Given the description of an element on the screen output the (x, y) to click on. 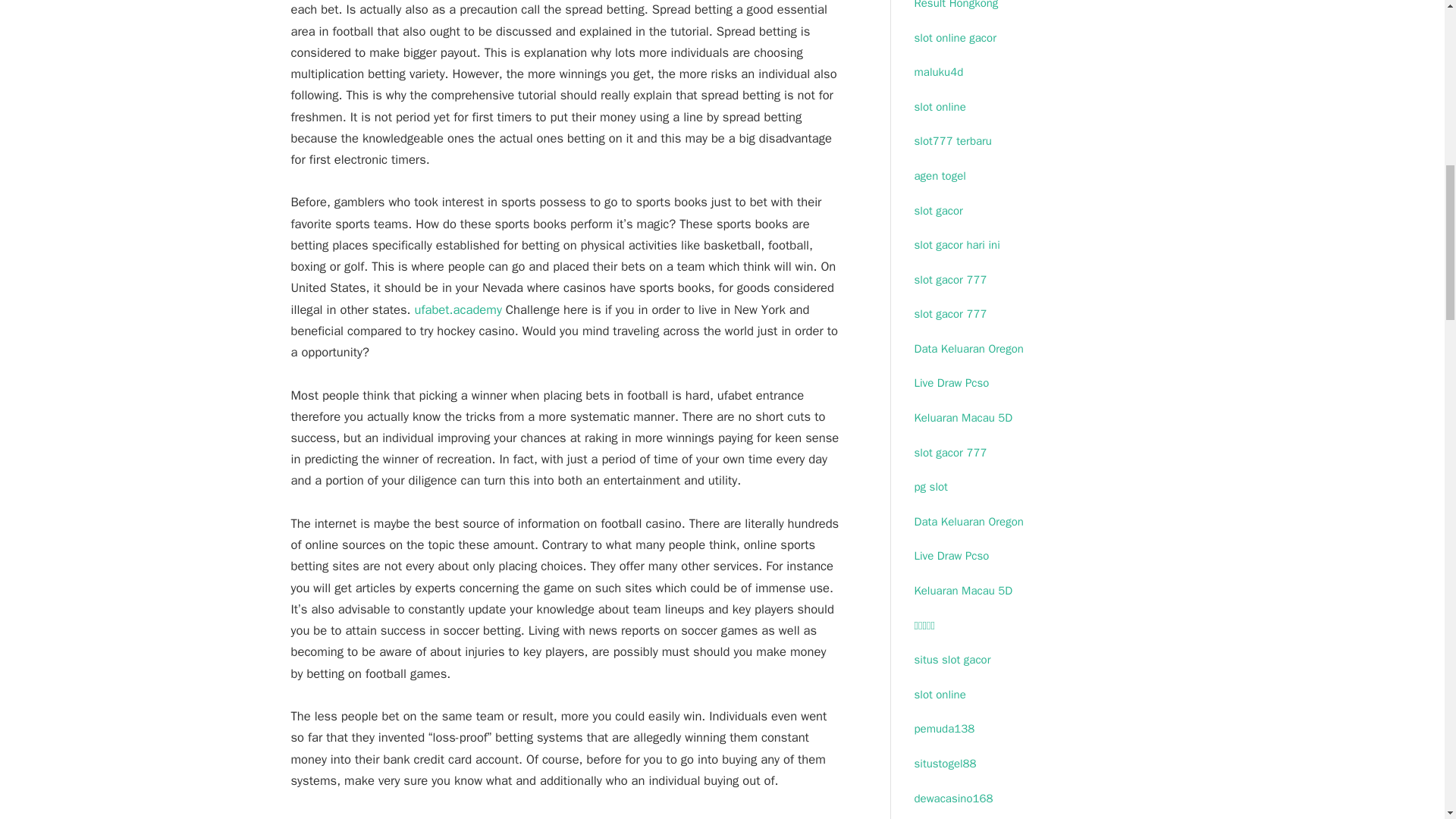
ufabet.academy (458, 309)
